Given the description of an element on the screen output the (x, y) to click on. 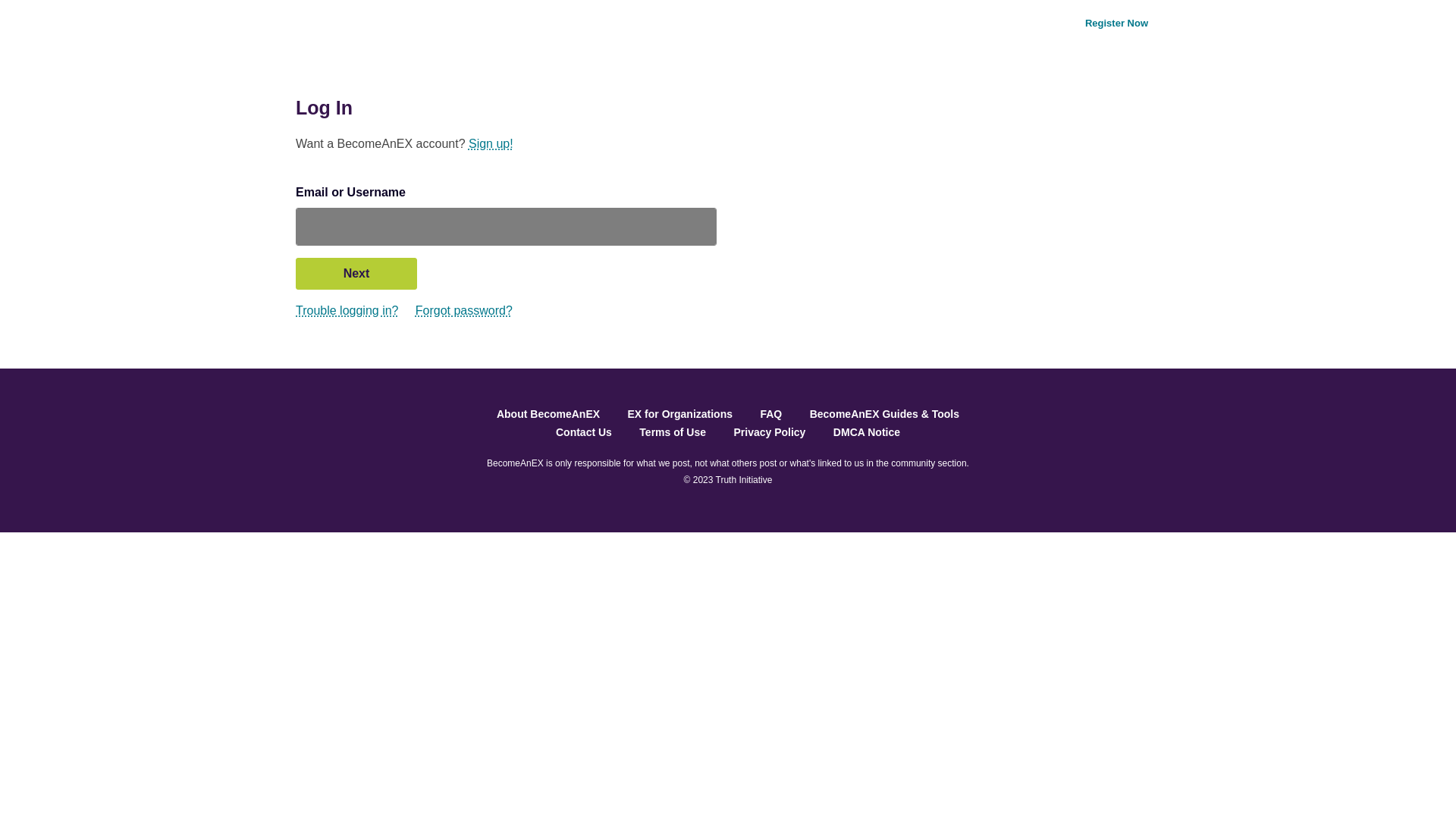
Terms of Use (672, 431)
FAQ (770, 413)
About BecomeAnEX (547, 413)
Next (355, 273)
DMCA Notice (865, 431)
Sign up! (490, 143)
Privacy Policy (769, 431)
Trouble logging in? (346, 309)
Contact Us (583, 431)
EX for Organizations (679, 413)
Register Now (1116, 22)
Forgot password? (463, 309)
